Given the description of an element on the screen output the (x, y) to click on. 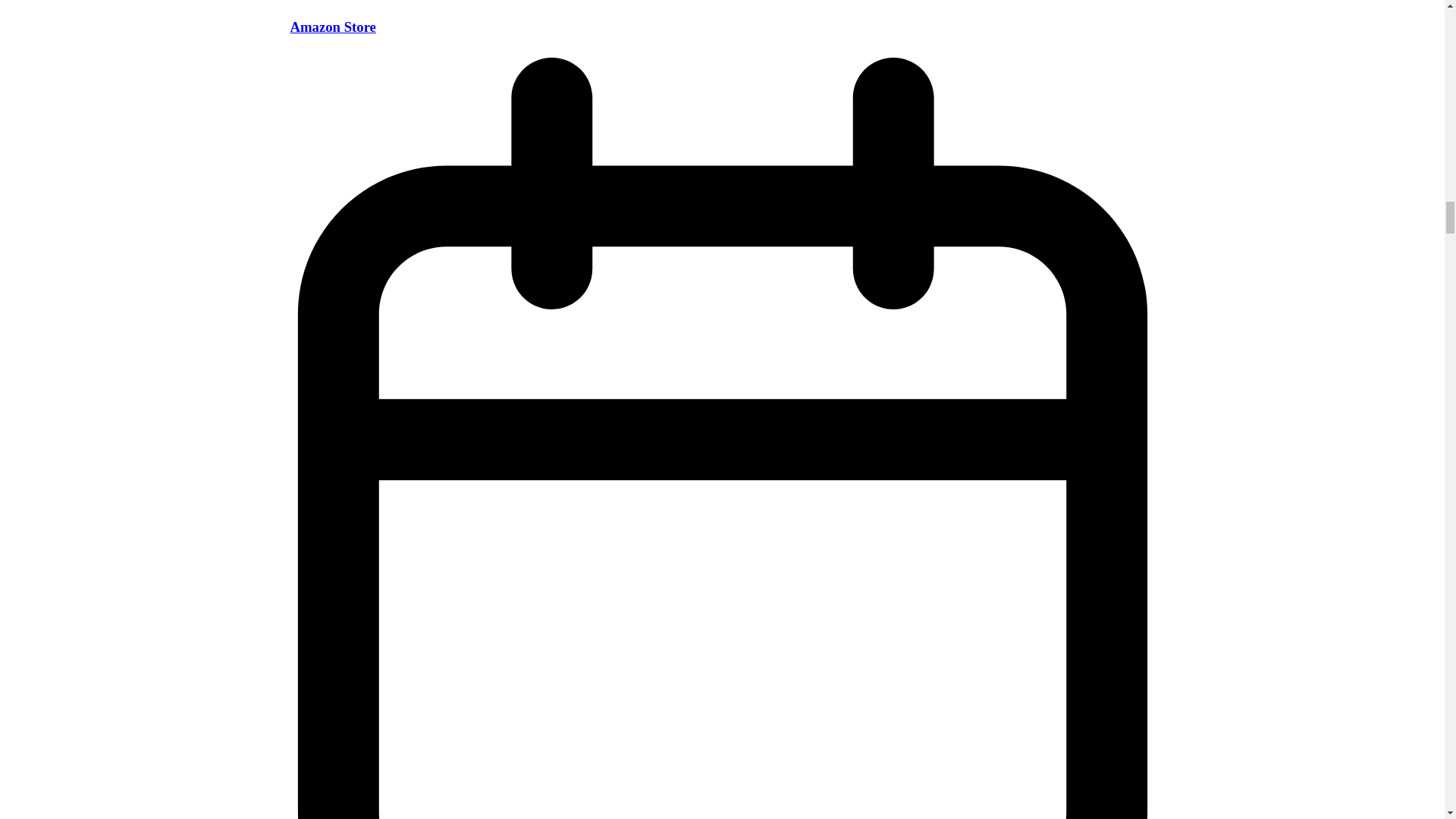
Amazon Store (332, 26)
